Given the description of an element on the screen output the (x, y) to click on. 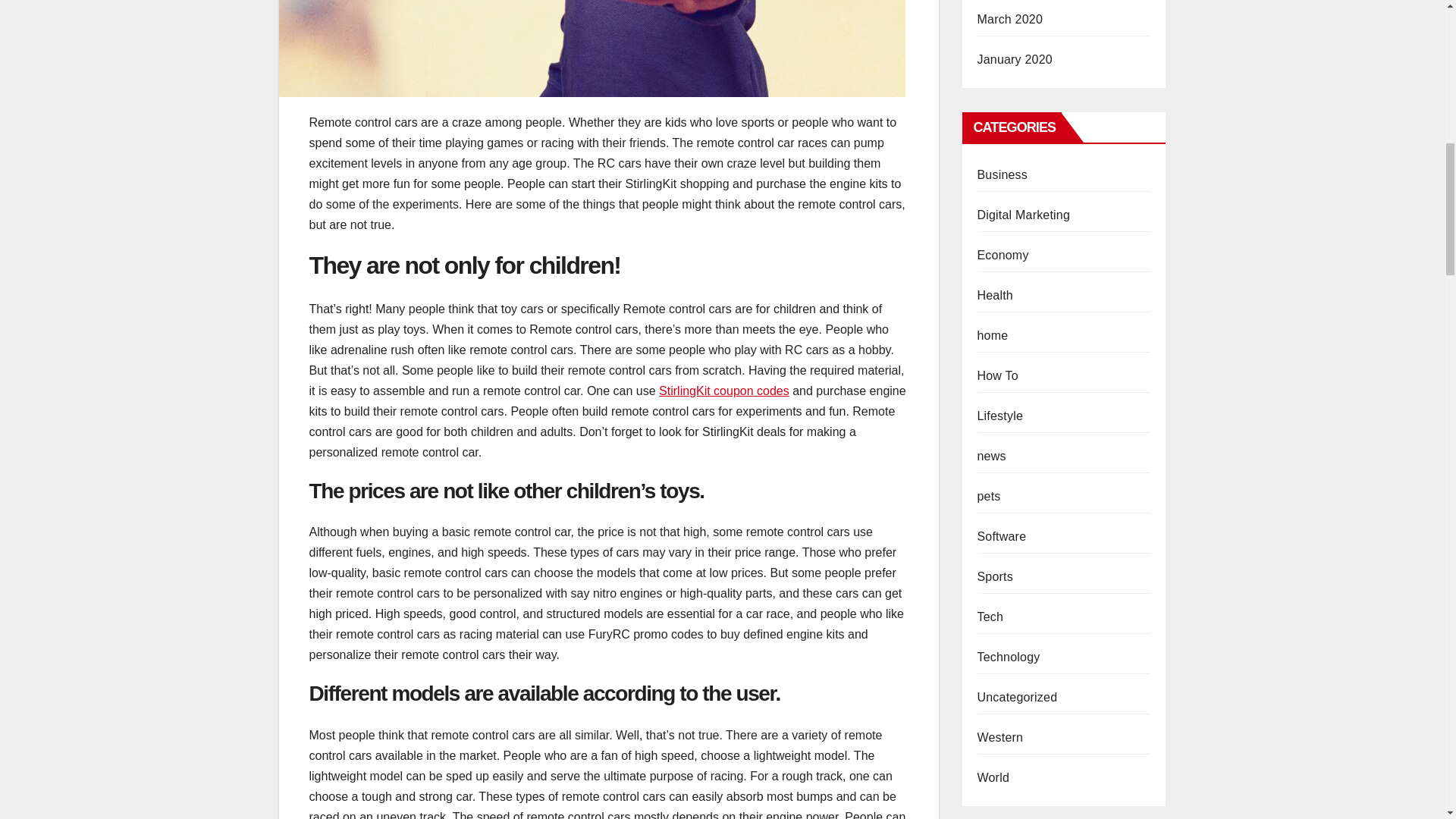
StirlingKit coupon codes (724, 390)
